Given the description of an element on the screen output the (x, y) to click on. 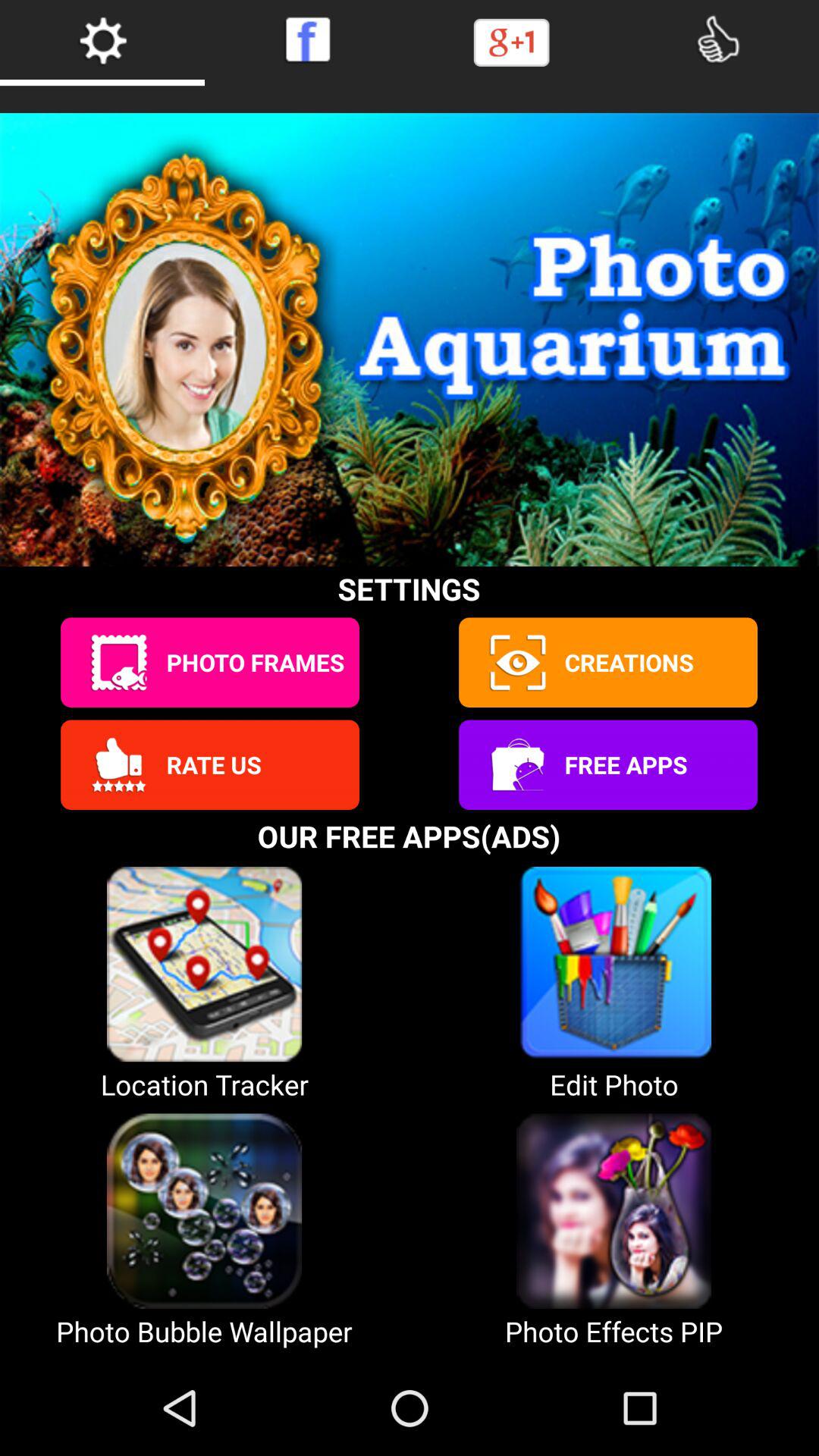
settings button (102, 39)
